Given the description of an element on the screen output the (x, y) to click on. 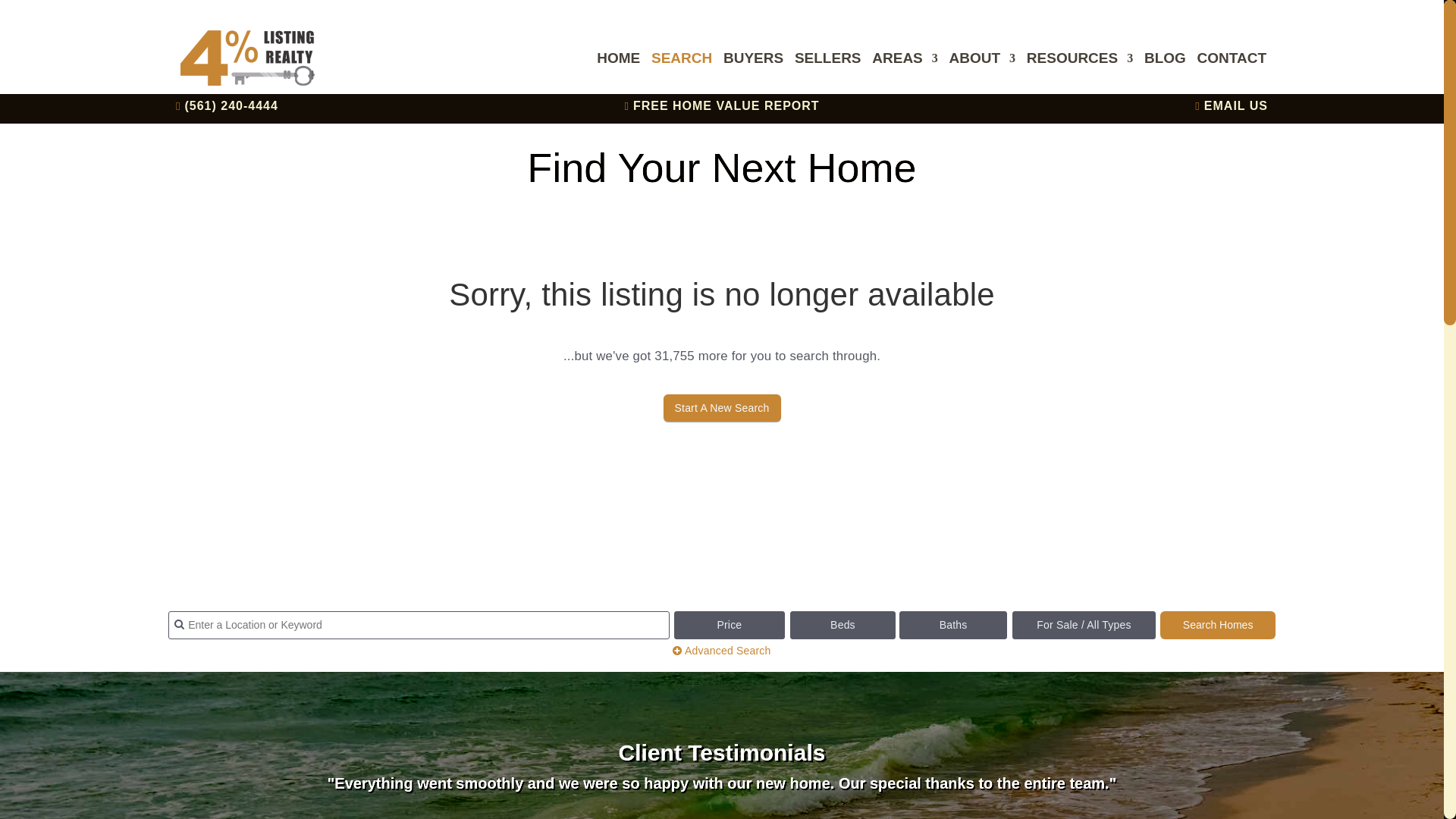
HOME (618, 73)
BUYERS (753, 73)
FREE HOME VALUE REPORT (726, 105)
EMAIL US (1236, 105)
SEARCH (680, 73)
SELLERS (827, 73)
AREAS (904, 73)
ABOUT (982, 73)
RESOURCES (1079, 73)
